Given the description of an element on the screen output the (x, y) to click on. 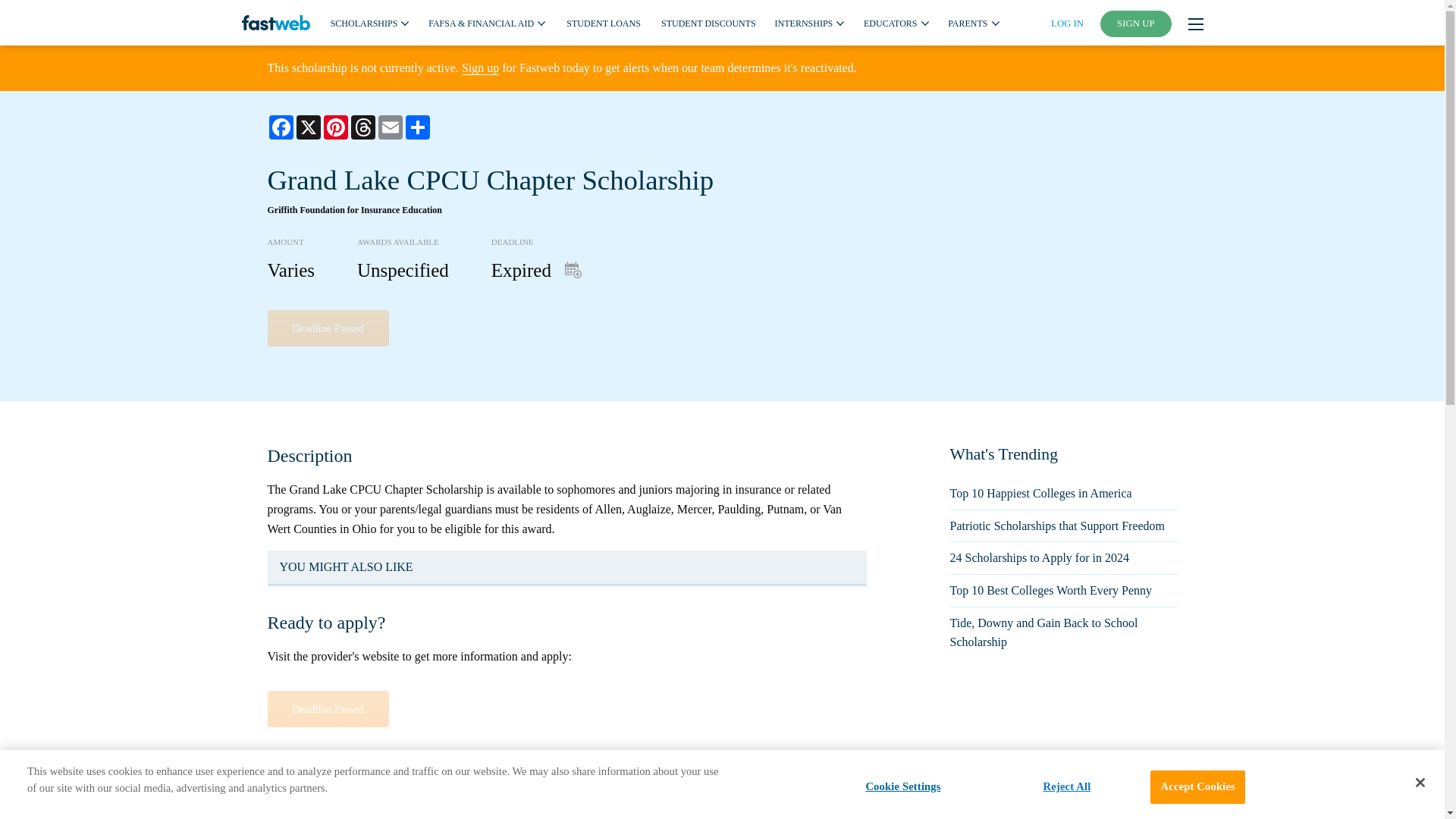
SIGN UP (1136, 23)
LOG IN (1067, 23)
STUDENT LOANS (603, 22)
STUDENT DISCOUNTS (708, 22)
